Given the description of an element on the screen output the (x, y) to click on. 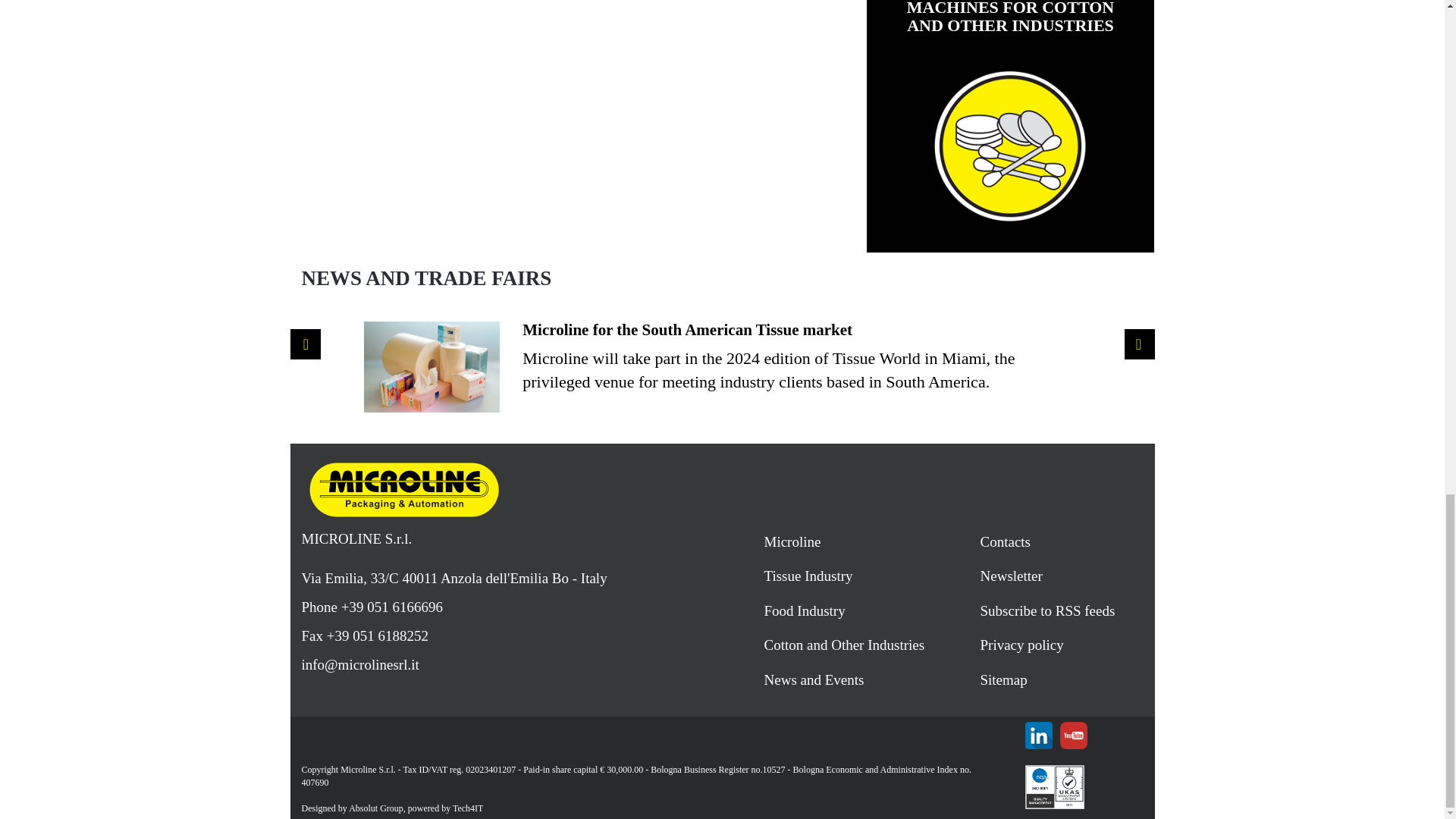
MICROLINE: MACHINES FOR COTTON AND OTHER INDUSTRIES (1010, 145)
